Given the description of an element on the screen output the (x, y) to click on. 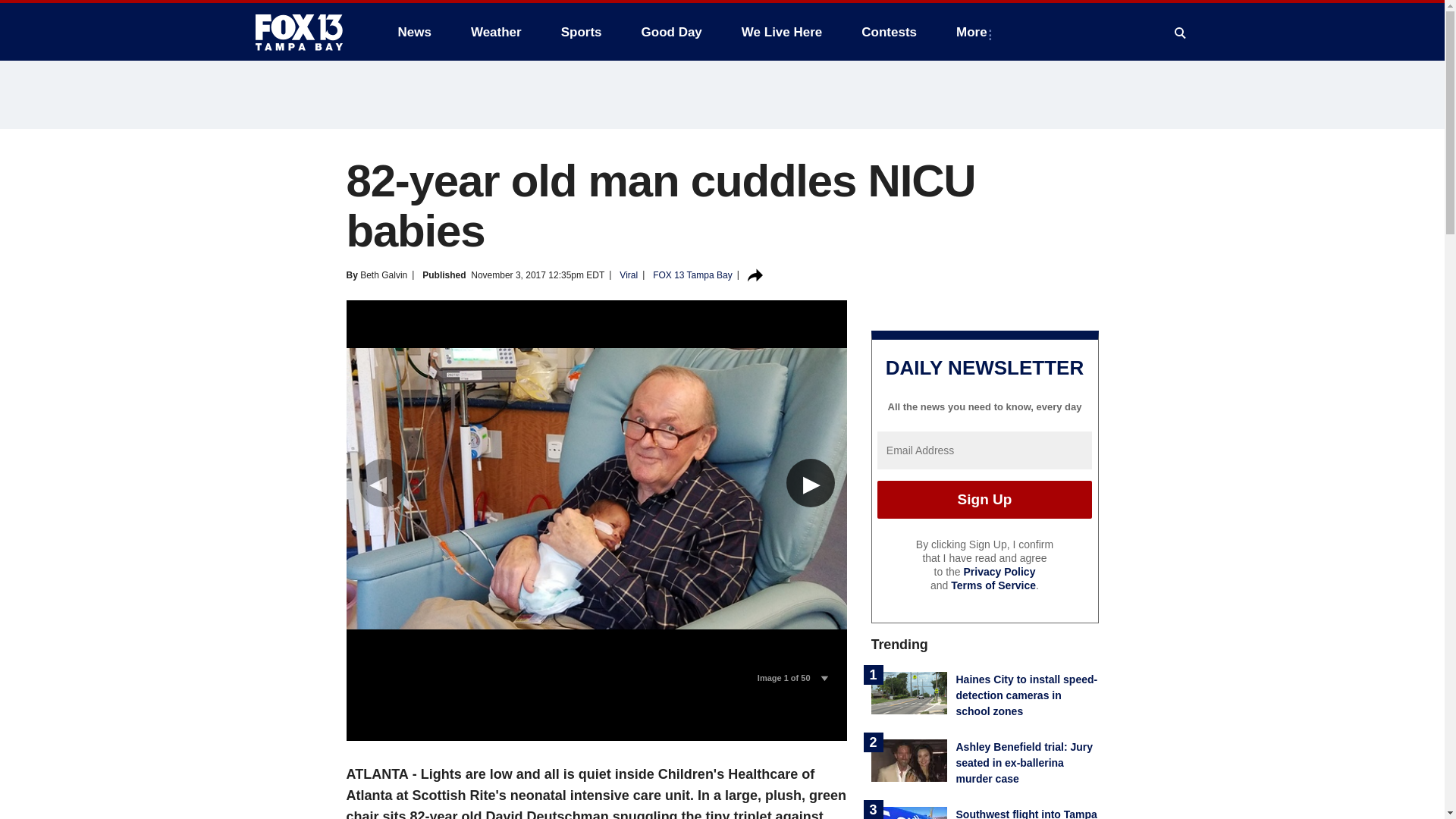
We Live Here (781, 32)
Sign Up (984, 499)
Sports (581, 32)
Good Day (671, 32)
News (413, 32)
Weather (496, 32)
More (974, 32)
Contests (888, 32)
